Given the description of an element on the screen output the (x, y) to click on. 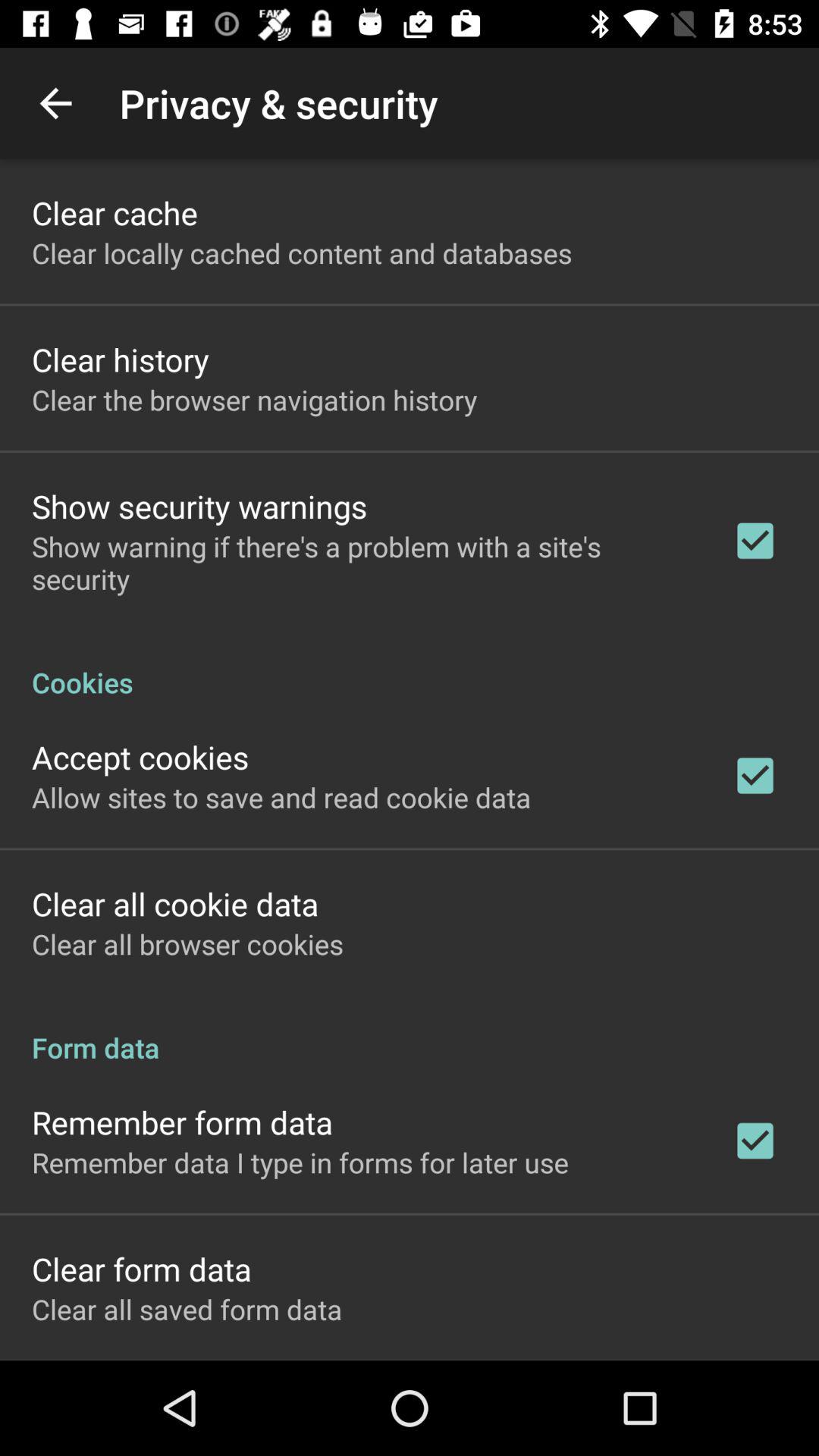
select the app below clear cache icon (301, 252)
